Given the description of an element on the screen output the (x, y) to click on. 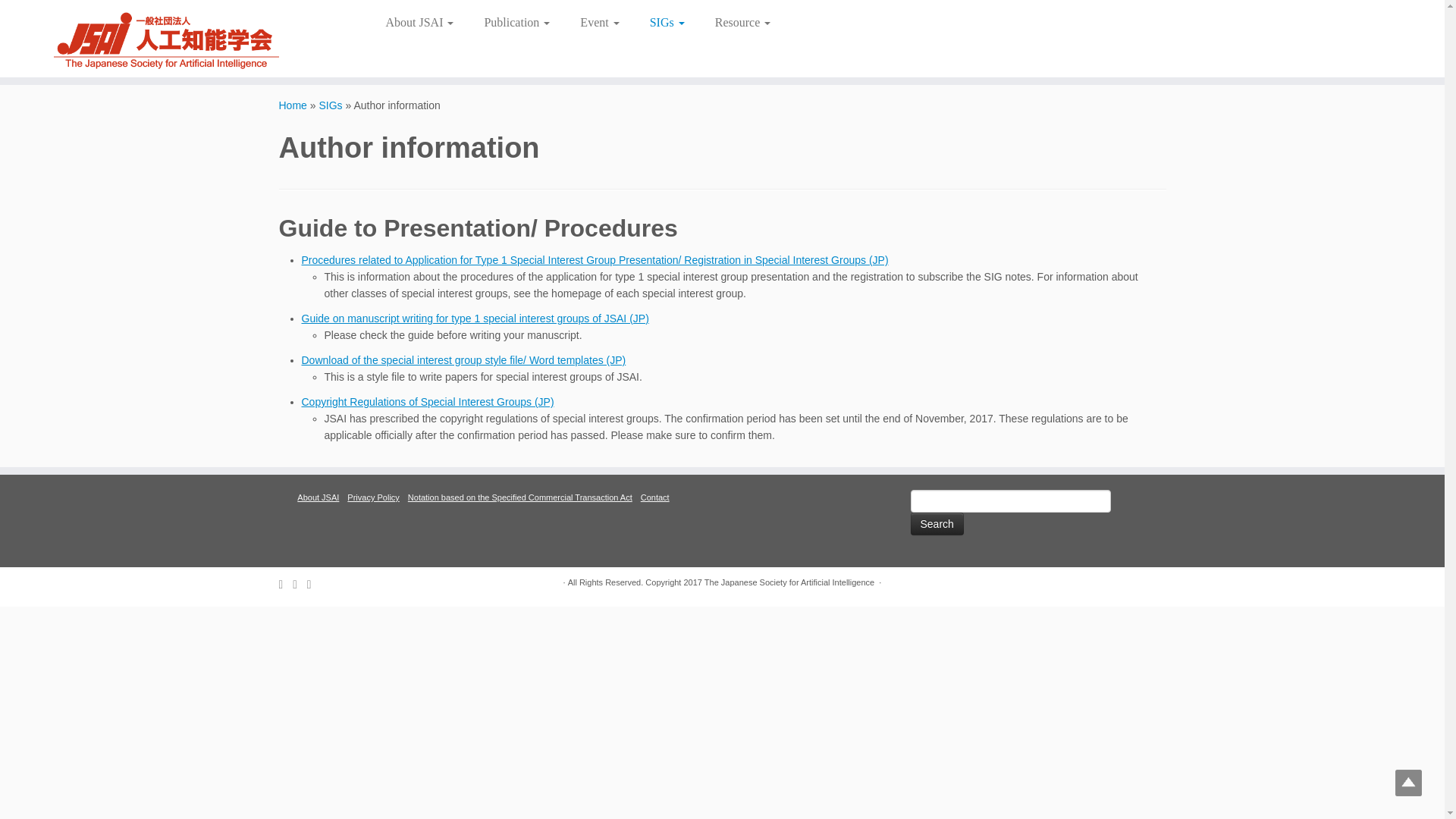
About JSAI (424, 22)
Publication (516, 22)
The Japanese Society for Artificial Intelligence (293, 105)
SIGs (330, 105)
SIGs (667, 22)
SIGs (330, 105)
Resource (735, 22)
Event (598, 22)
Home (293, 105)
